Given the description of an element on the screen output the (x, y) to click on. 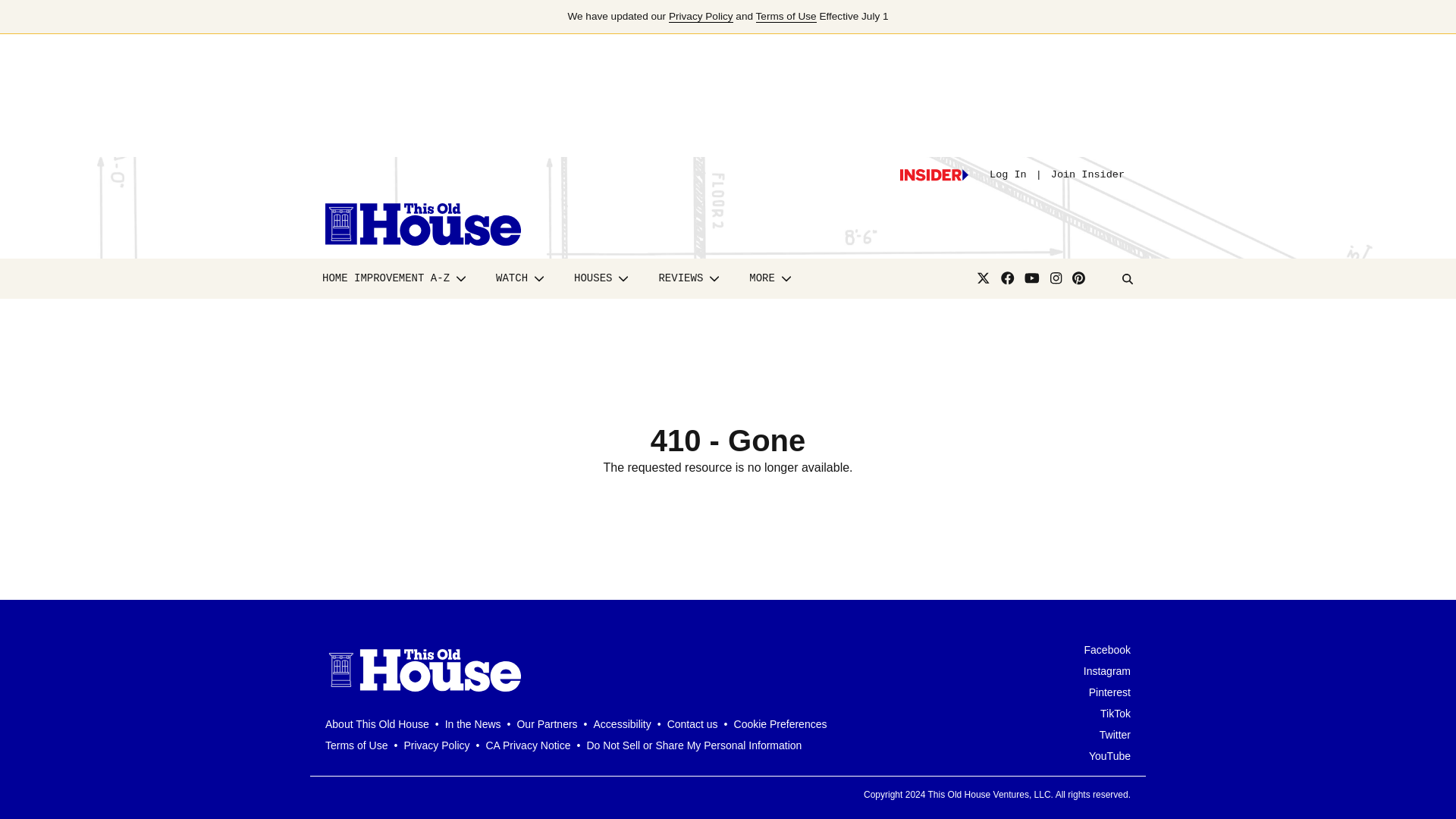
Log in or sign up (933, 174)
Privacy Policy (700, 16)
Join Insider (1087, 174)
Log In (1008, 174)
Terms of Use (785, 16)
